Given the description of an element on the screen output the (x, y) to click on. 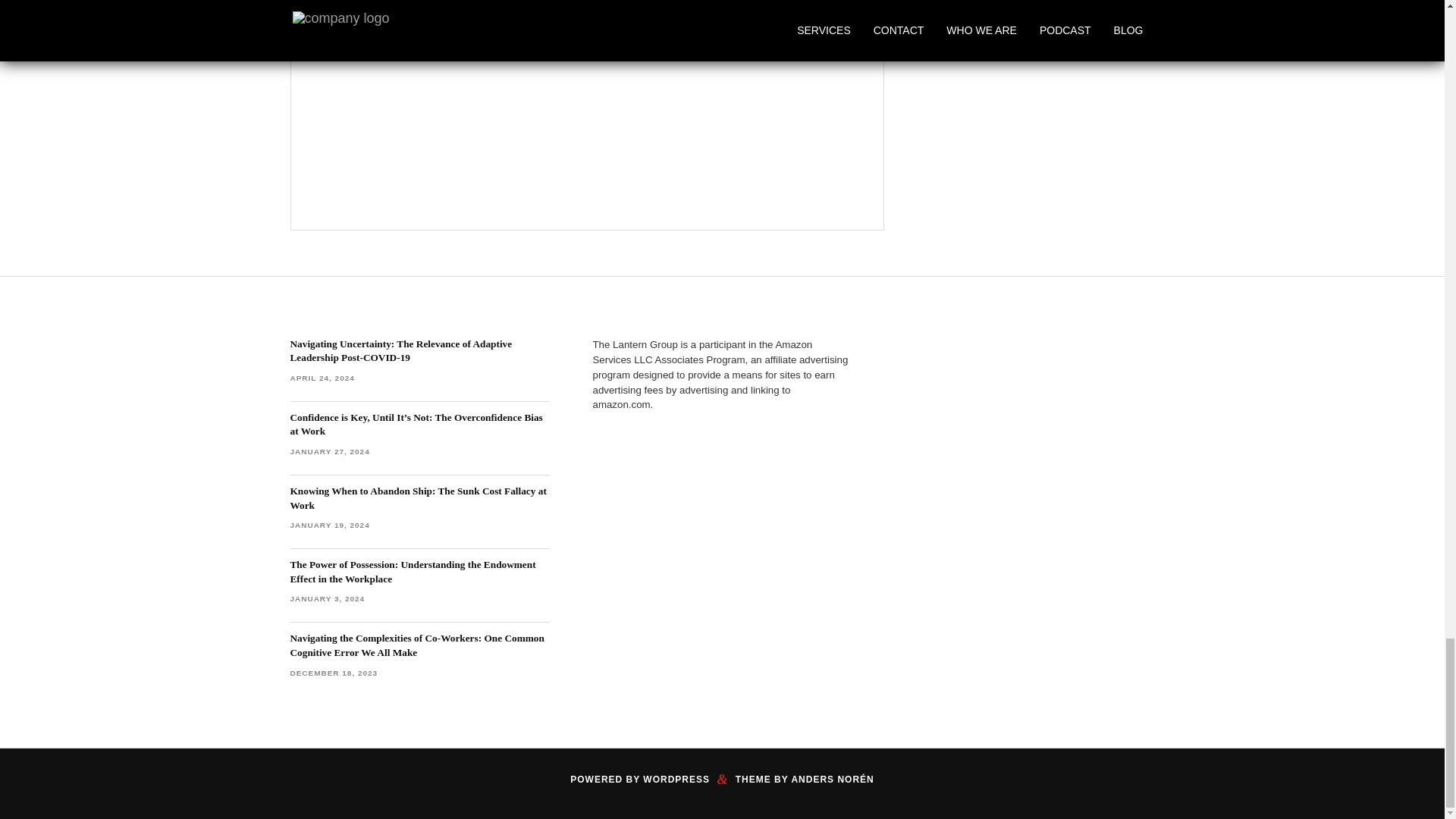
WORDPRESS (676, 778)
Comment Form (587, 91)
